Given the description of an element on the screen output the (x, y) to click on. 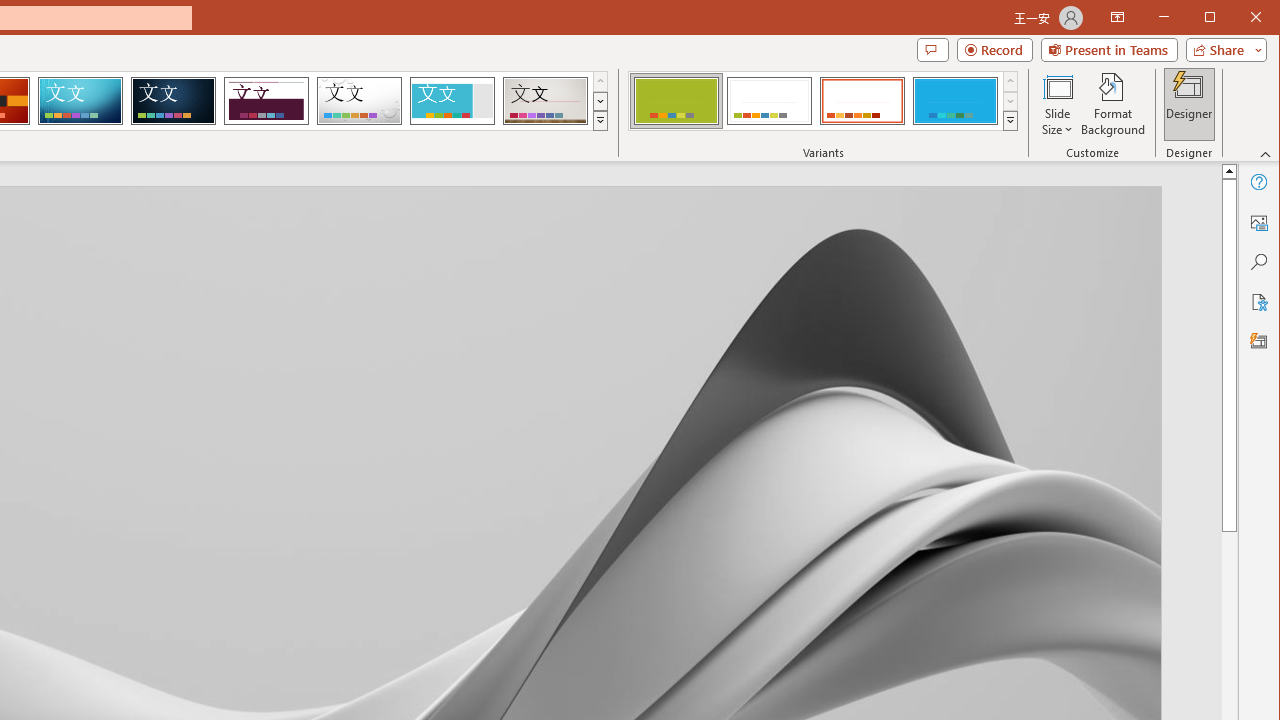
Frame (452, 100)
Basis Variant 3 (862, 100)
AutomationID: ThemeVariantsGallery (824, 101)
